Given the description of an element on the screen output the (x, y) to click on. 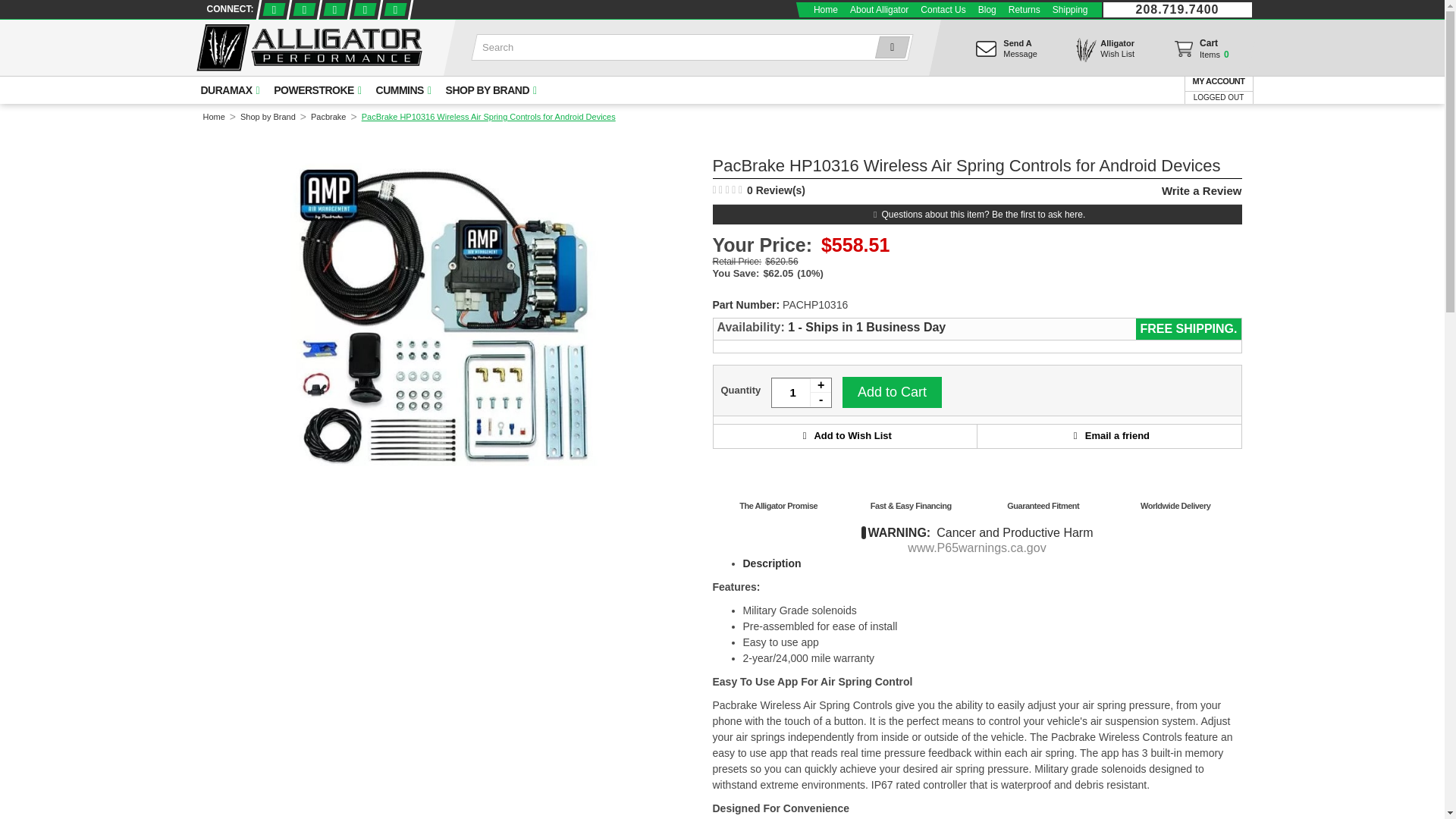
208.719.7400 (1177, 9)
Subscribe to our Channel (333, 9)
About Alligator (879, 9)
search button (889, 47)
Follow Us on Pinterest (363, 9)
Follow Us on Instagram (394, 9)
Contact Us (942, 9)
Like Us on Facebook (272, 9)
Follow Us on Twitter (1200, 52)
